Given the description of an element on the screen output the (x, y) to click on. 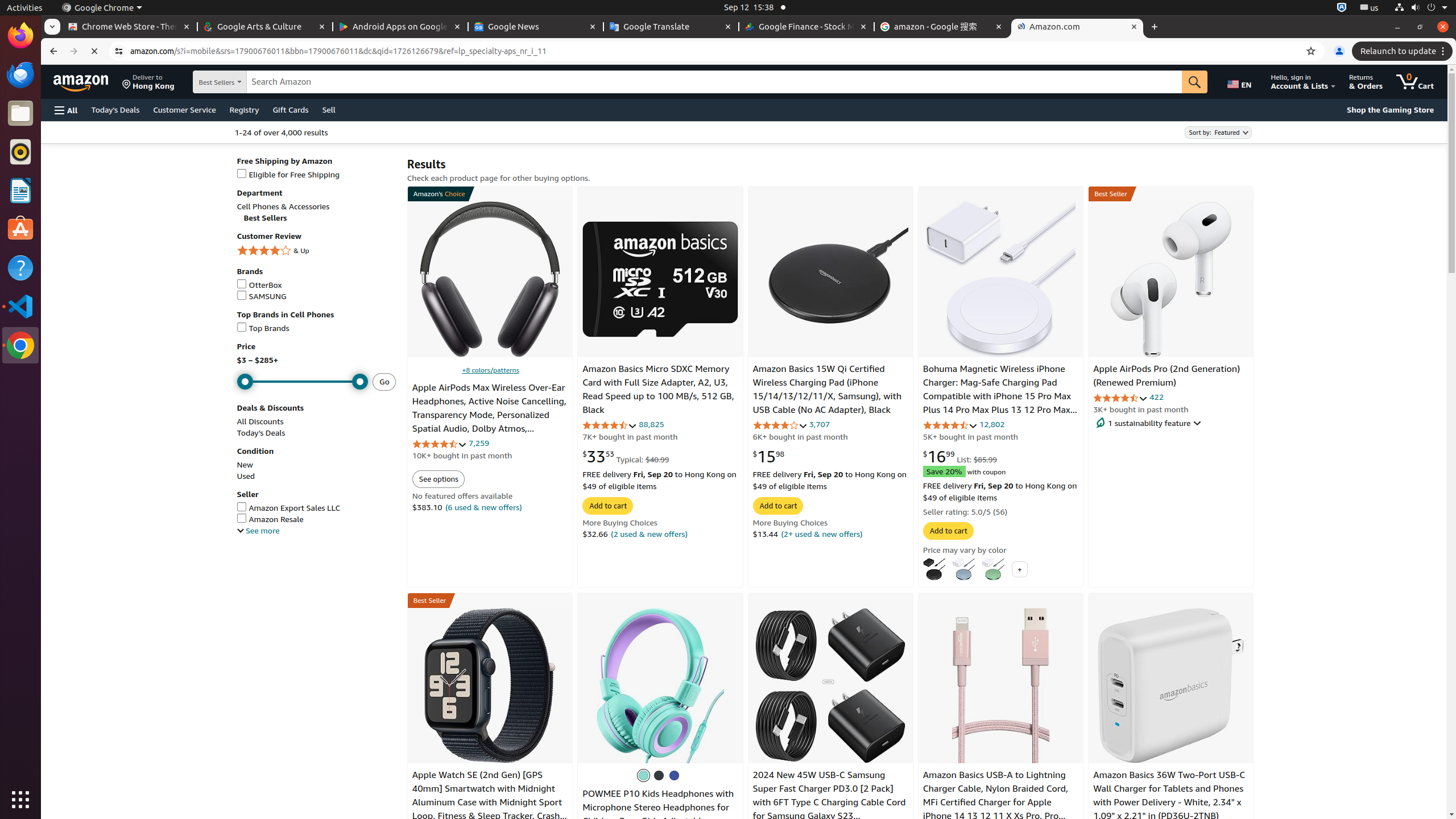
Blue Element type: link (963, 568)
All Discounts Element type: link (259, 421)
POWMEE P10 Kids Headphones with Microphone Stereo Headphones for Children Boys Girls,Adjustable 85dB/94dB Volume Control F... Element type: link (660, 685)
Apple AirPods Max Wireless Over-Ear Headphones, Active Noise Cancelling, Transparency Mode, Personalized Spatial Audio, Dolby Atmos, Bluetooth Headphones for iPhone – Space Gray Element type: link (488, 421)
 1 sustainability feature Element type: push-button (1170, 422)
